Given the description of an element on the screen output the (x, y) to click on. 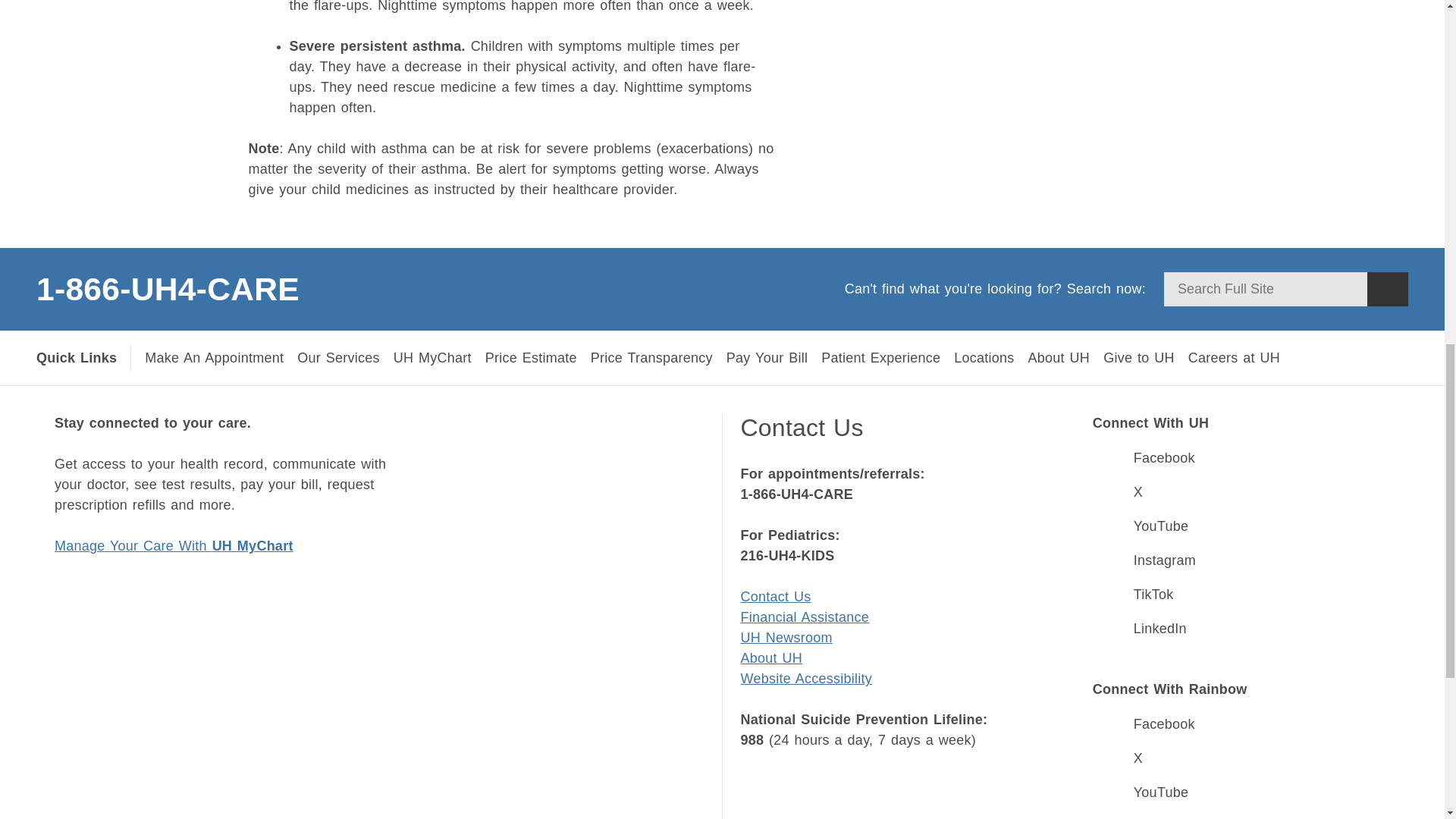
Our Services (338, 357)
Price Estimate (530, 357)
Search (1387, 288)
1-866-UH4-CARE (252, 288)
Locations (983, 357)
Make An Appointment (213, 357)
Pay Your Bill (767, 357)
Search (1387, 288)
Patient Experience (880, 357)
Price Transparency (652, 357)
UH MyChart (432, 357)
